Given the description of an element on the screen output the (x, y) to click on. 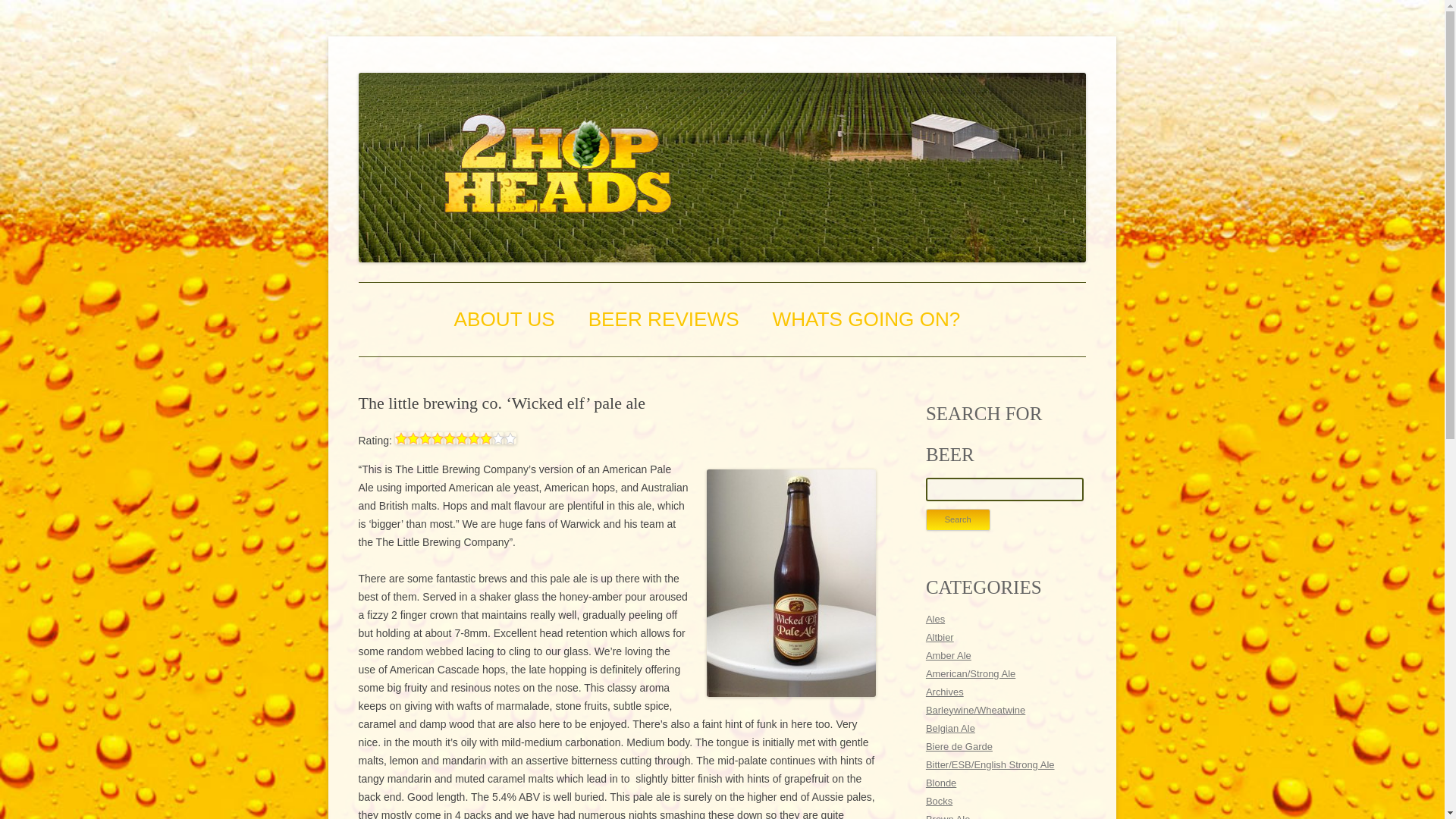
Blonde (941, 782)
Ales (935, 618)
Bocks (939, 800)
2 Hop Heads (417, 72)
8 out of 10 stars (455, 440)
Amber Ale (948, 655)
WHATS GOING ON? (866, 319)
Search (958, 519)
Belgian Ale (950, 727)
BEER REVIEWS (663, 319)
